Given the description of an element on the screen output the (x, y) to click on. 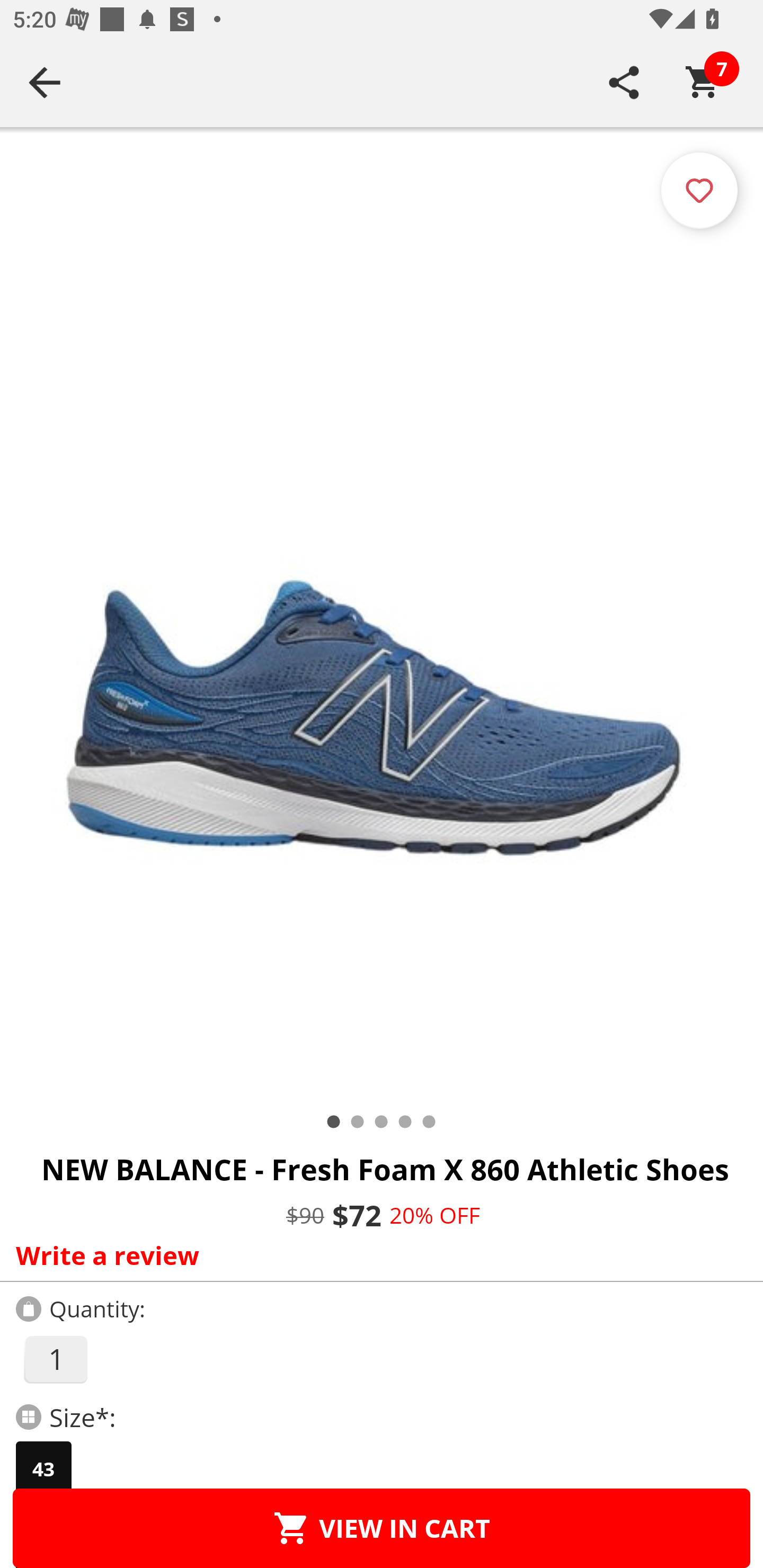
Navigate up (44, 82)
SHARE (623, 82)
Cart (703, 81)
Write a review (377, 1255)
1 (55, 1358)
43 (43, 1468)
VIEW IN CART (381, 1528)
